Given the description of an element on the screen output the (x, y) to click on. 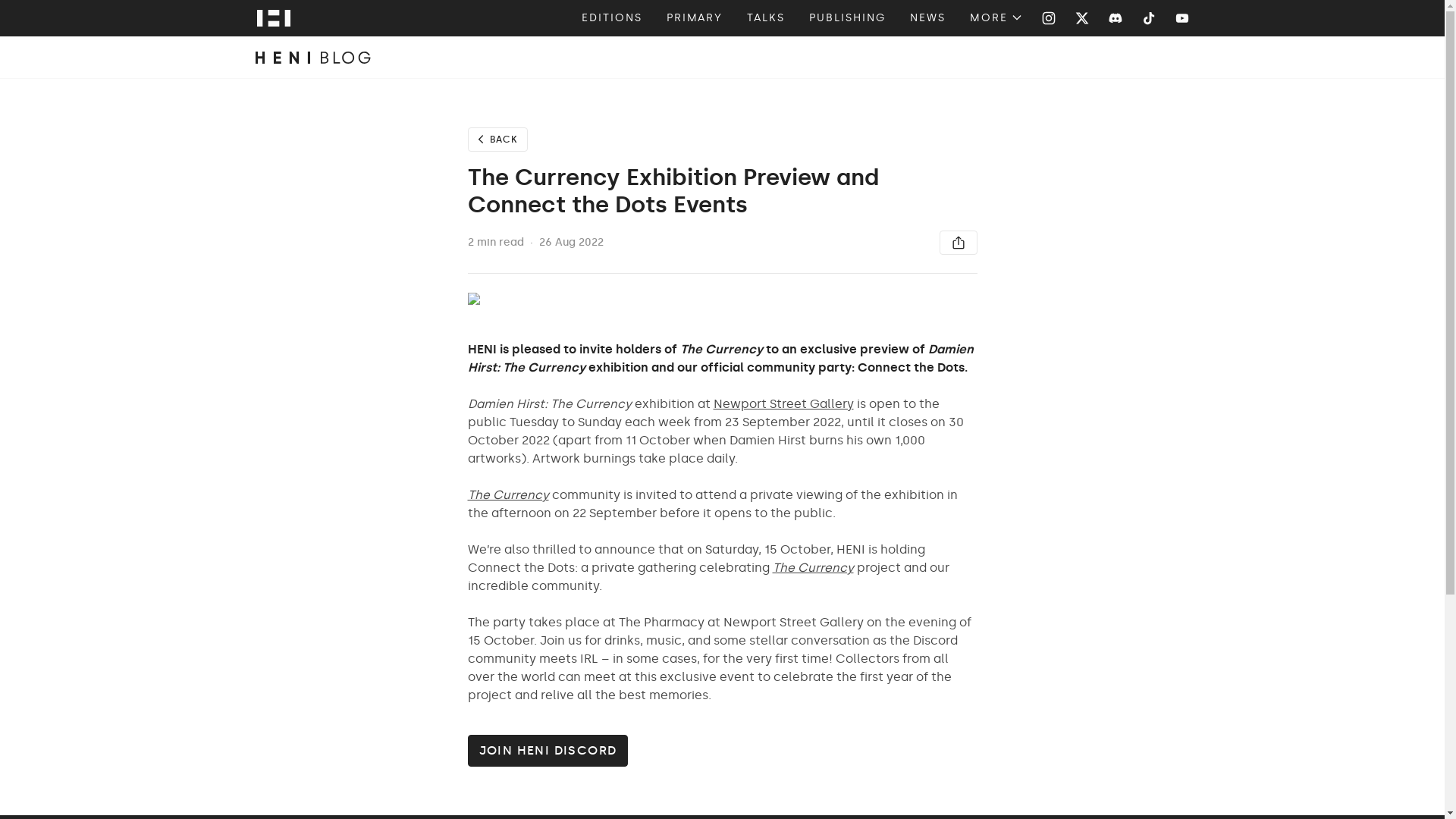
BACK (721, 139)
JOIN HENI DISCORD (721, 750)
Newport Street Gallery (783, 403)
PUBLISHING (847, 18)
JOIN HENI DISCORD (547, 750)
NEWS (927, 18)
MORE (996, 18)
PRIMARY (694, 18)
TALKS (765, 18)
BACK (497, 139)
